Given the description of an element on the screen output the (x, y) to click on. 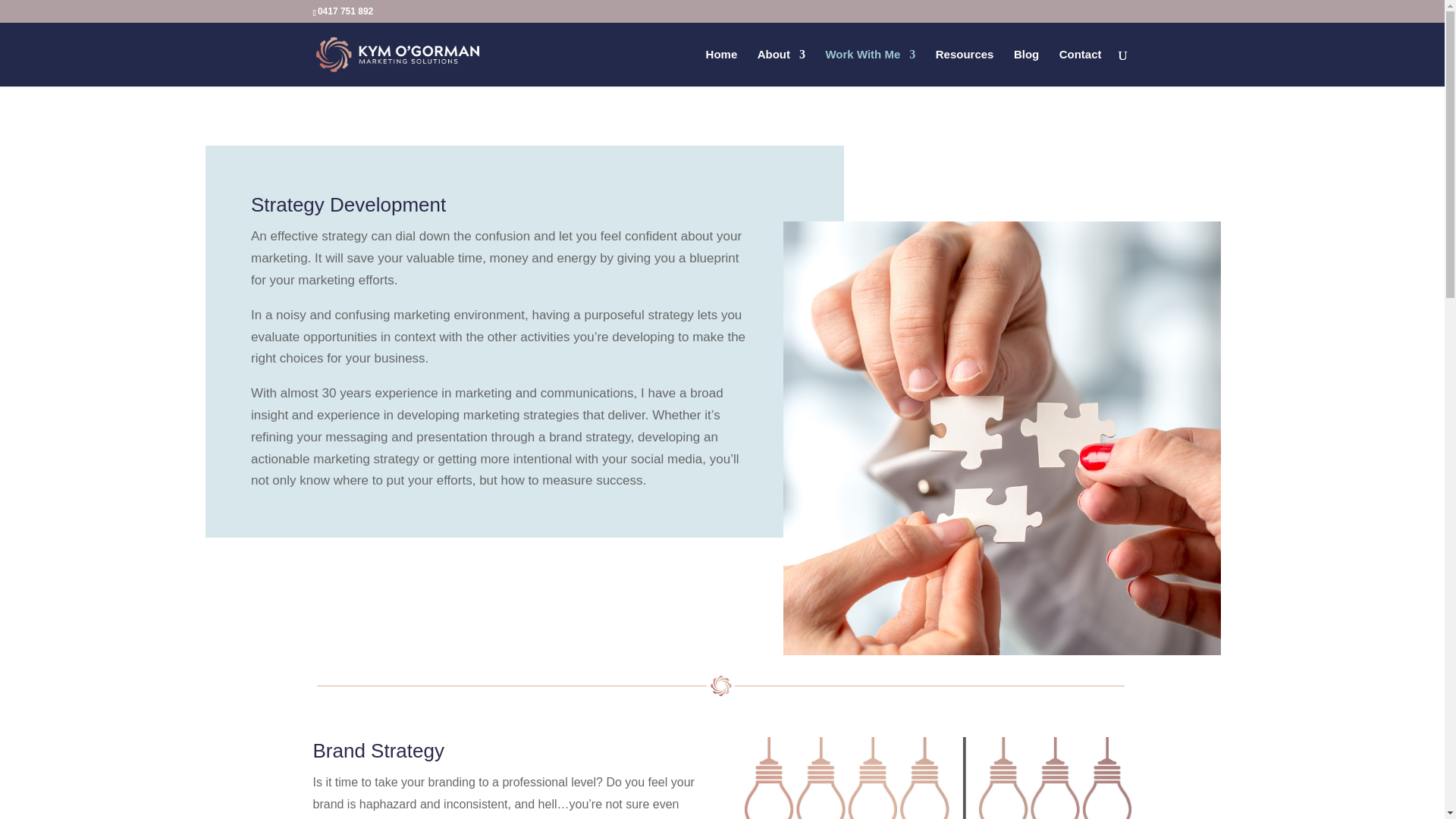
Work With Me (870, 67)
Contact (1080, 67)
About (781, 67)
Resources (965, 67)
